Given the description of an element on the screen output the (x, y) to click on. 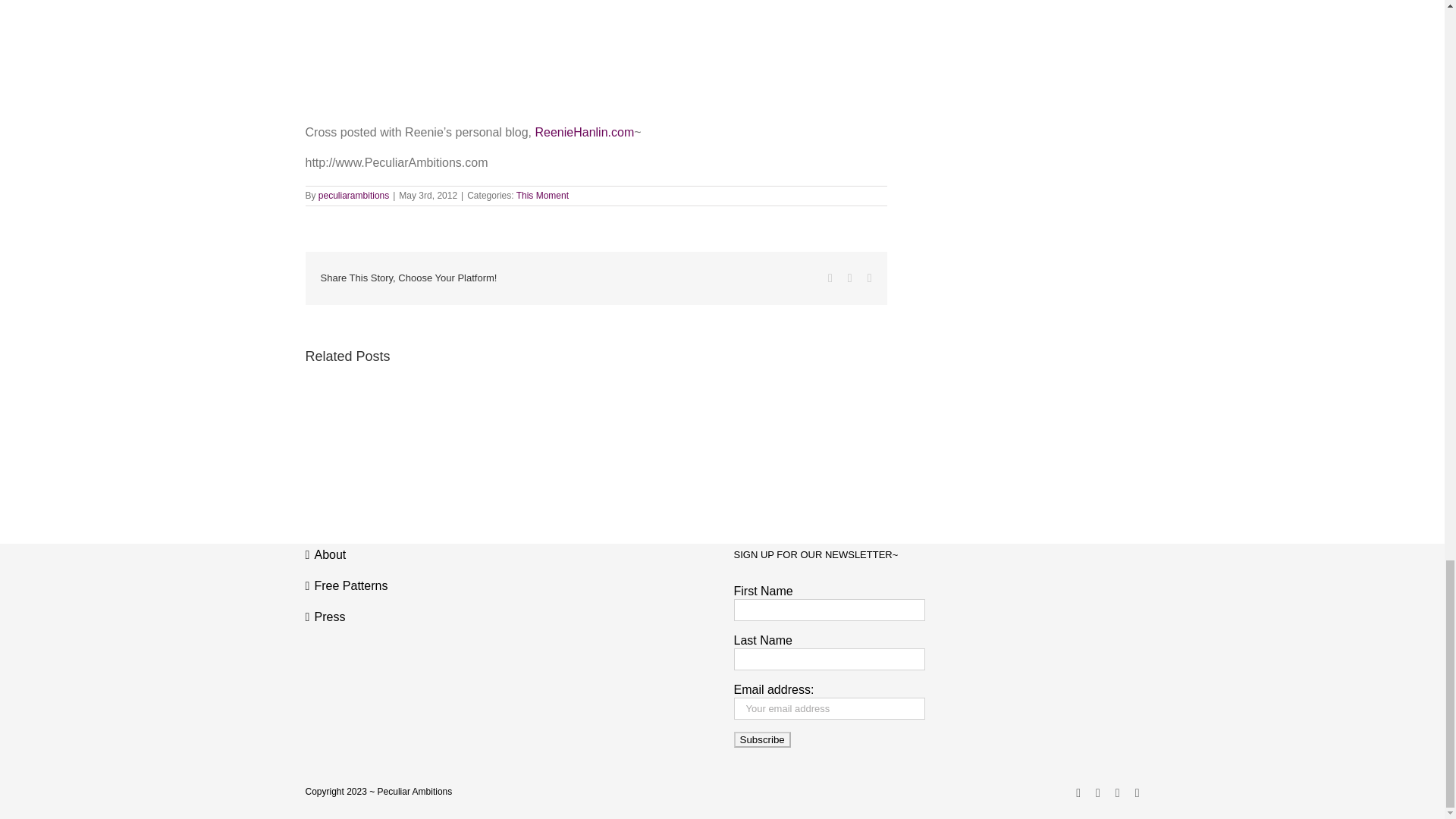
ReenieHanlin.com (583, 132)
Subscribe (761, 739)
Posts by peculiarambitions (353, 195)
This Moment (542, 195)
peculiarambitions (353, 195)
